Given the description of an element on the screen output the (x, y) to click on. 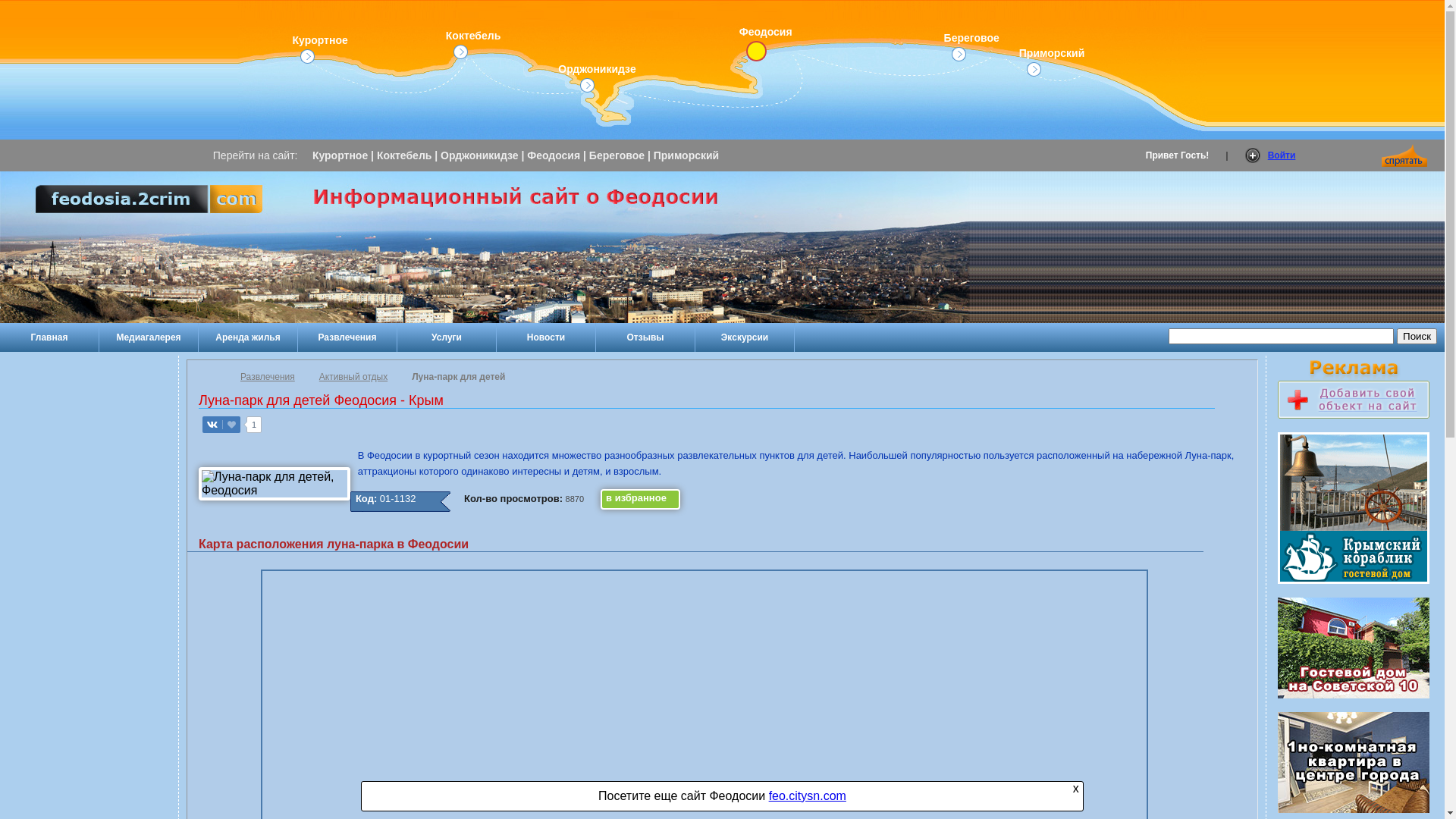
feo.citysn.com Element type: text (807, 795)
